Given the description of an element on the screen output the (x, y) to click on. 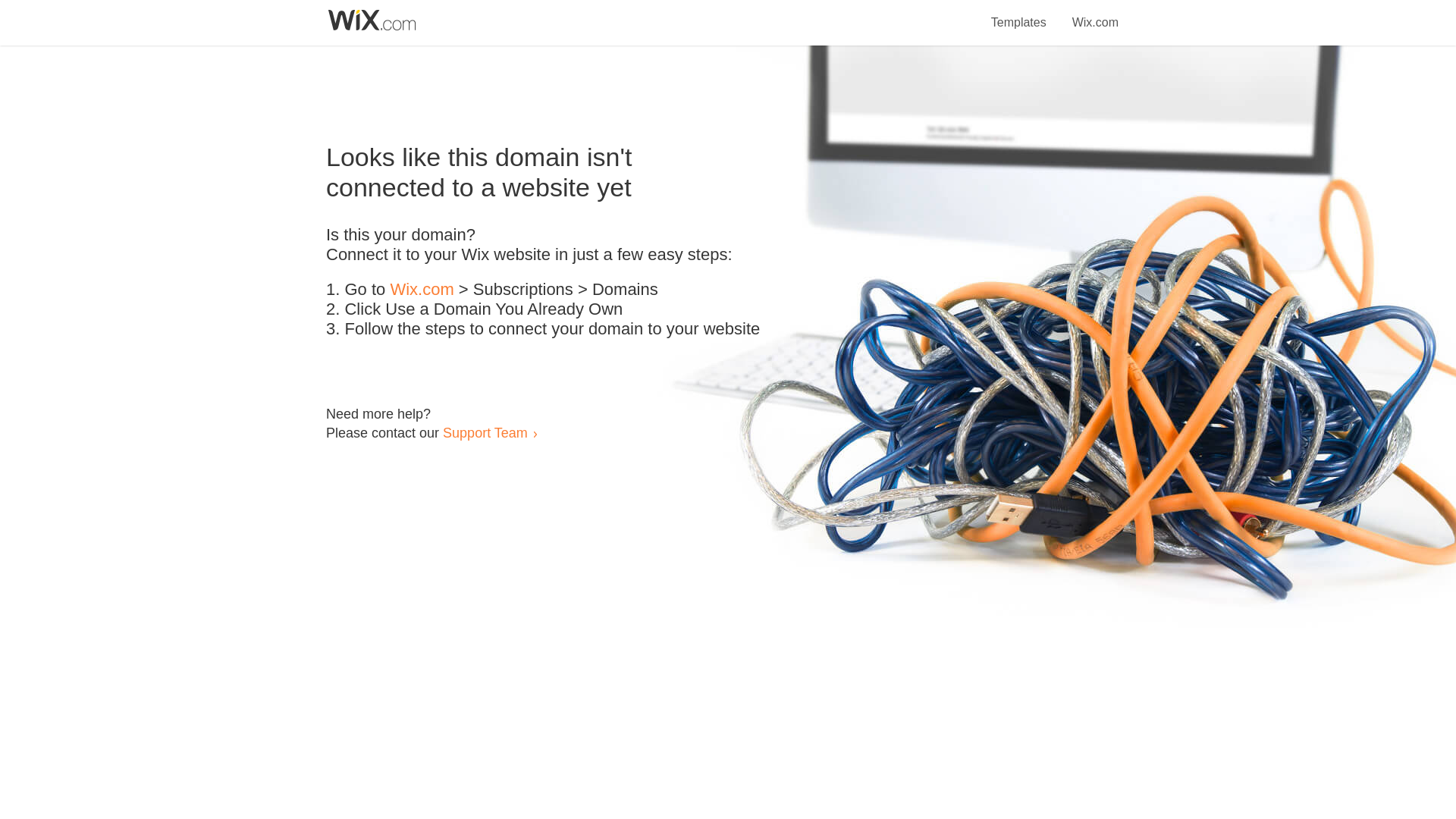
Support Team (484, 432)
Wix.com (421, 289)
Wix.com (1095, 14)
Templates (1018, 14)
